Given the description of an element on the screen output the (x, y) to click on. 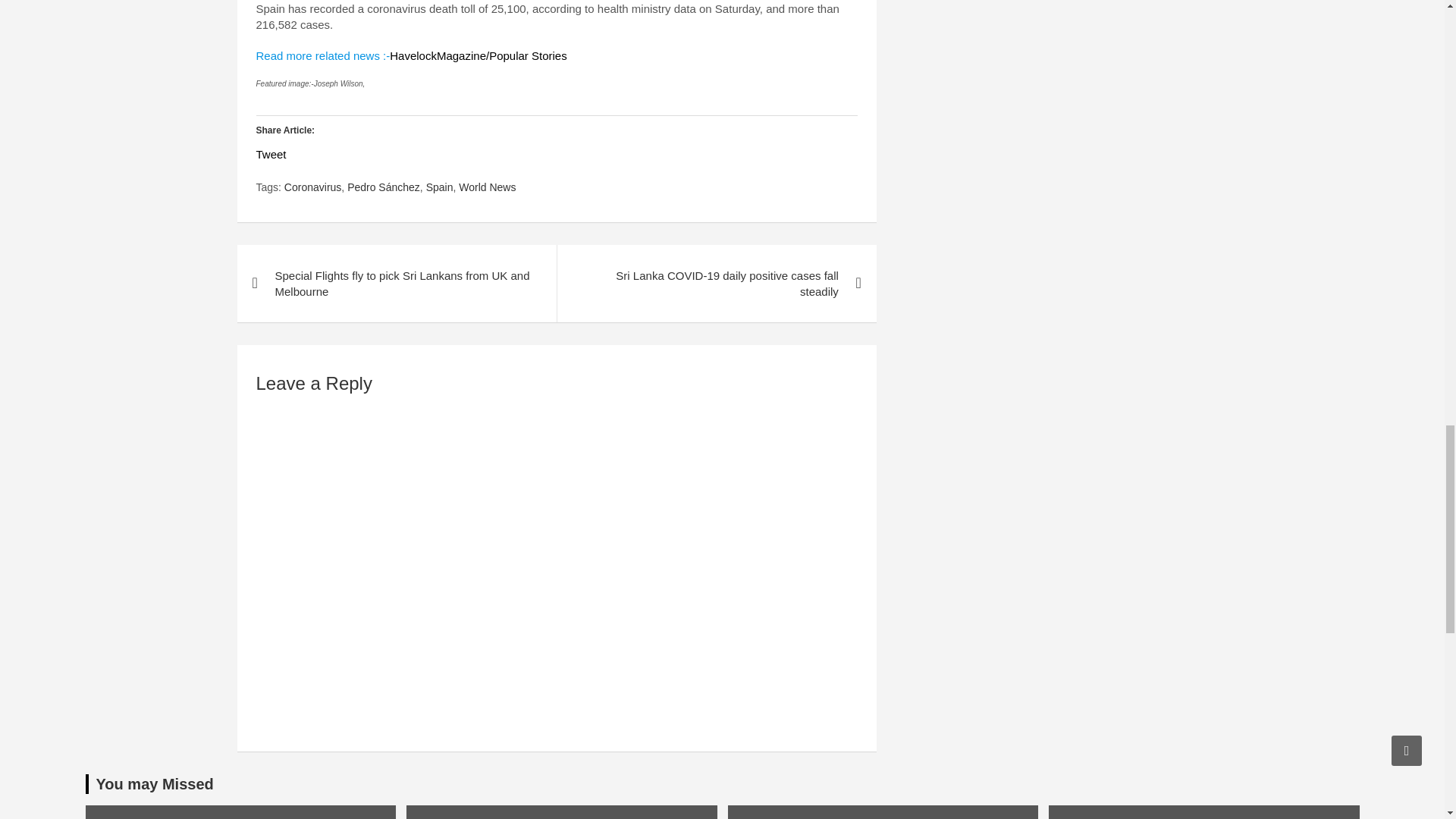
Tweet (271, 154)
World News (486, 187)
Sri Lanka COVID-19 daily positive cases fall steadily (716, 283)
Spain (439, 187)
Coronavirus (311, 187)
